Given the description of an element on the screen output the (x, y) to click on. 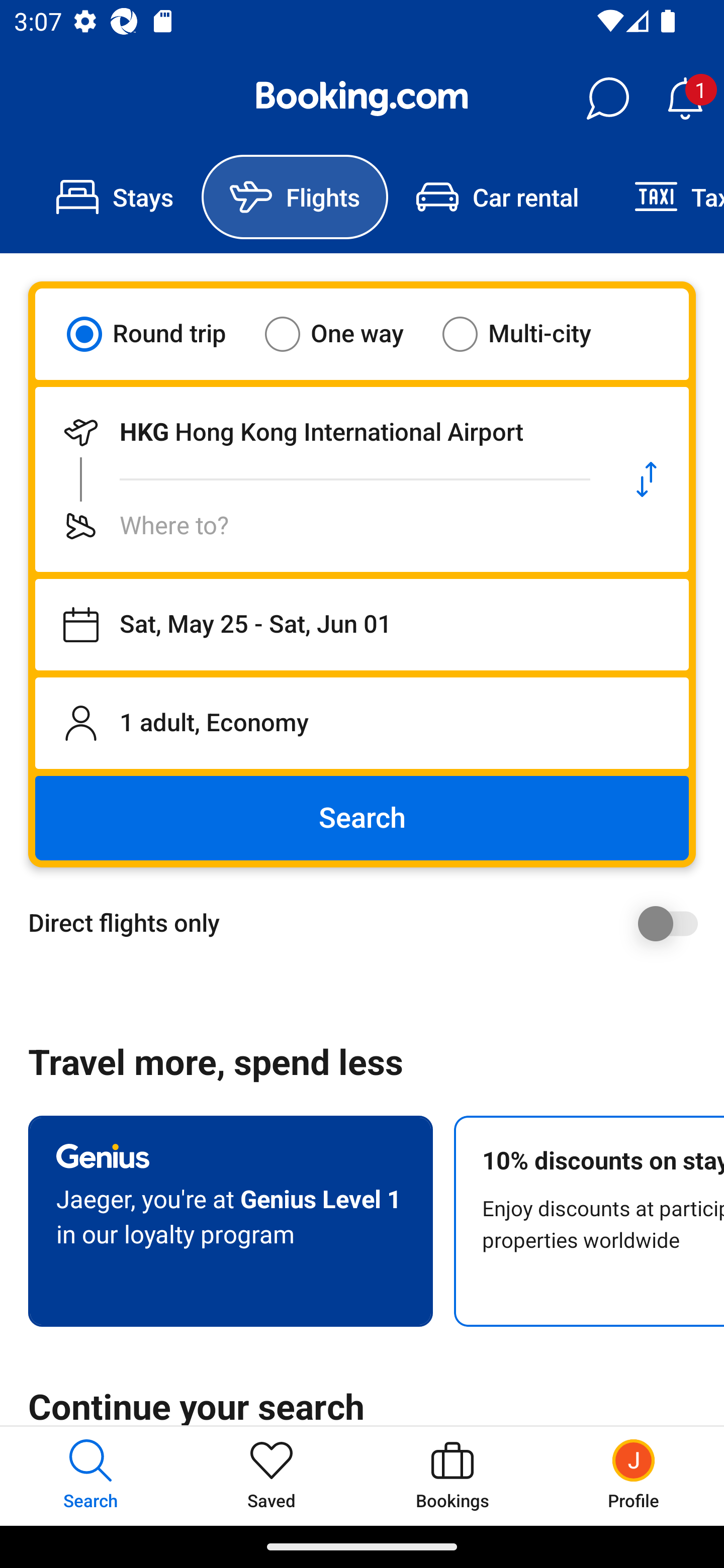
Messages (607, 98)
Notifications (685, 98)
Stays (114, 197)
Flights (294, 197)
Car rental (497, 197)
Taxi (665, 197)
One way (346, 333)
Multi-city (528, 333)
Departing from HKG Hong Kong International Airport (319, 432)
Swap departure location and destination (646, 479)
Flying to  (319, 525)
Departing on Sat, May 25, returning on Sat, Jun 01 (361, 624)
1 adult, Economy (361, 722)
Search (361, 818)
Direct flights only (369, 923)
Saved (271, 1475)
Bookings (452, 1475)
Profile (633, 1475)
